Given the description of an element on the screen output the (x, y) to click on. 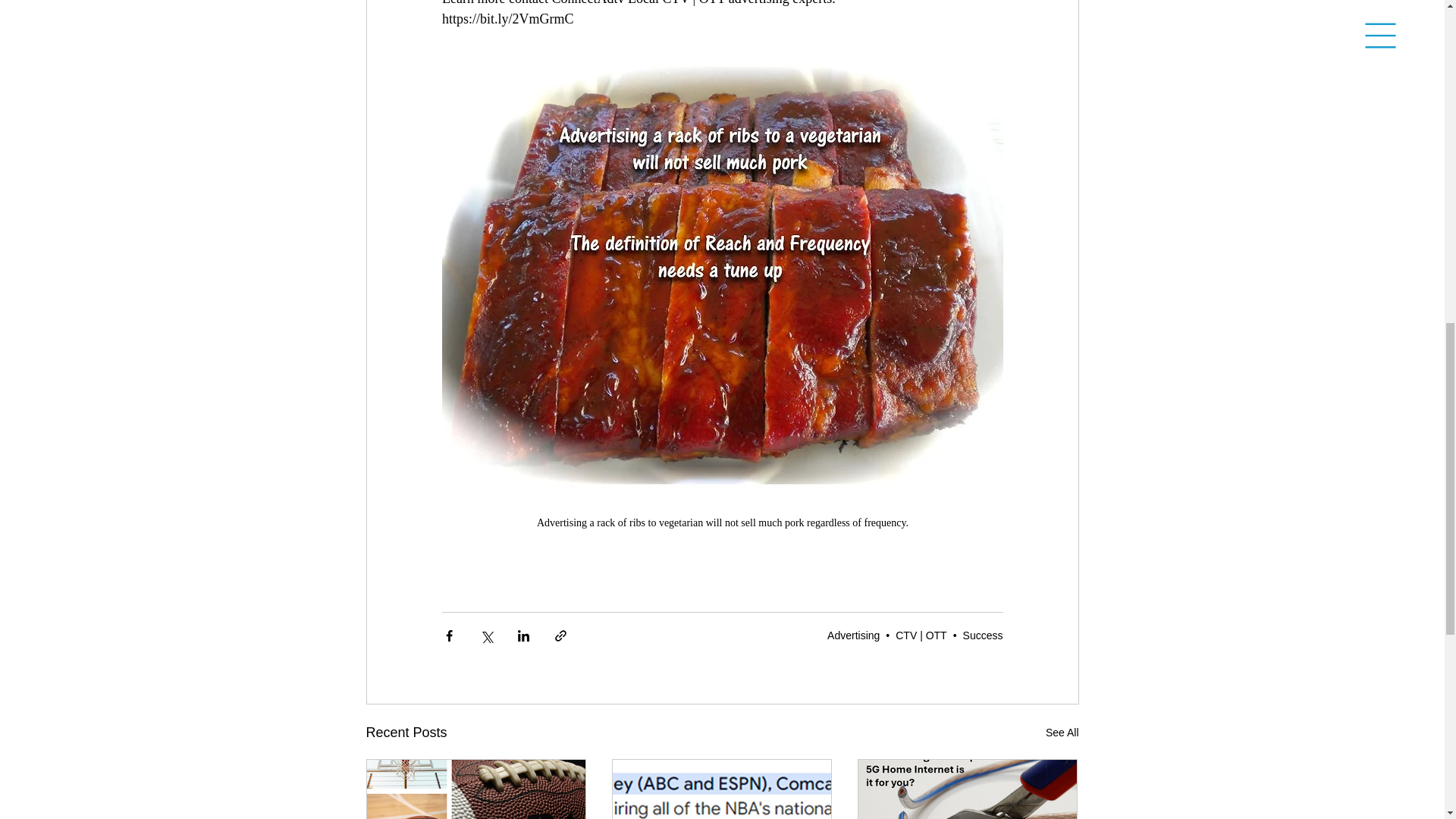
See All (1061, 732)
Success (982, 635)
Advertising (853, 635)
